Given the description of an element on the screen output the (x, y) to click on. 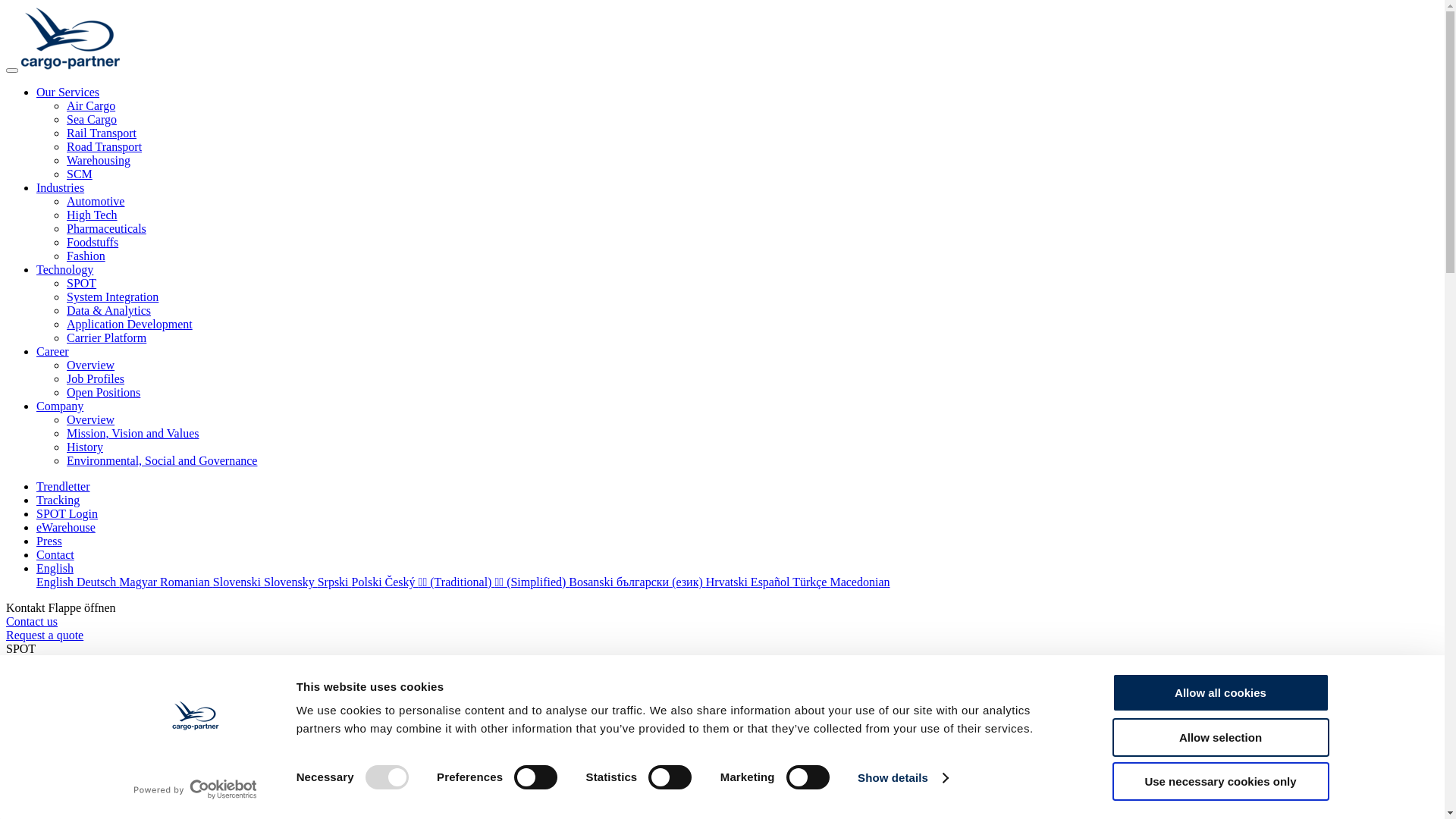
Macedonian Element type: text (859, 581)
Deutsch Element type: text (97, 581)
Slovensky Element type: text (290, 581)
Mission, Vision and Values Element type: text (132, 432)
Technology Element type: text (64, 269)
Our Services Element type: text (67, 91)
Career Element type: text (52, 351)
Pharmaceuticals Element type: text (106, 228)
Contact us Element type: text (31, 621)
Application Development Element type: text (129, 323)
Foodstuffs Element type: text (92, 241)
Srpski Element type: text (334, 581)
Allow all cookies Element type: text (1219, 692)
Magyar Element type: text (139, 581)
Request a quote Element type: text (44, 634)
Customer Feedback Element type: text (54, 675)
Fashion Element type: text (85, 255)
Overview Element type: text (90, 419)
Sea Cargo Element type: text (91, 118)
Rail Transport Element type: text (101, 132)
Trendletter Element type: text (63, 486)
Environmental, Social and Governance Element type: text (161, 460)
History Element type: text (84, 446)
SPOT Element type: text (81, 282)
Job Profiles Element type: text (95, 378)
Romanian Element type: text (186, 581)
English Element type: text (54, 567)
Slovenski Element type: text (238, 581)
Overview Element type: text (90, 364)
Open Positions Element type: text (103, 391)
Tracking Element type: text (57, 499)
Air Cargo Element type: text (90, 105)
Company Element type: text (59, 405)
System Integration Element type: text (112, 296)
Hrvatski Element type: text (728, 581)
Contact Element type: text (55, 554)
Data & Analytics Element type: text (108, 310)
Press Element type: text (49, 540)
Industries Element type: text (60, 187)
Bosanski Element type: text (592, 581)
English Element type: text (56, 581)
Warehousing Element type: text (98, 159)
Polski Element type: text (368, 581)
High Tech Element type: text (91, 214)
Use necessary cookies only Element type: text (1219, 781)
Carrier Platform Element type: text (106, 337)
Road Transport Element type: text (103, 146)
SCM Element type: text (79, 173)
Show details Element type: text (902, 777)
Allow selection Element type: text (1219, 736)
SPOT Login Element type: text (66, 513)
Automotive Element type: text (95, 200)
eWarehouse Element type: text (65, 526)
LOG IN TO SPOT Element type: text (52, 661)
